Given the description of an element on the screen output the (x, y) to click on. 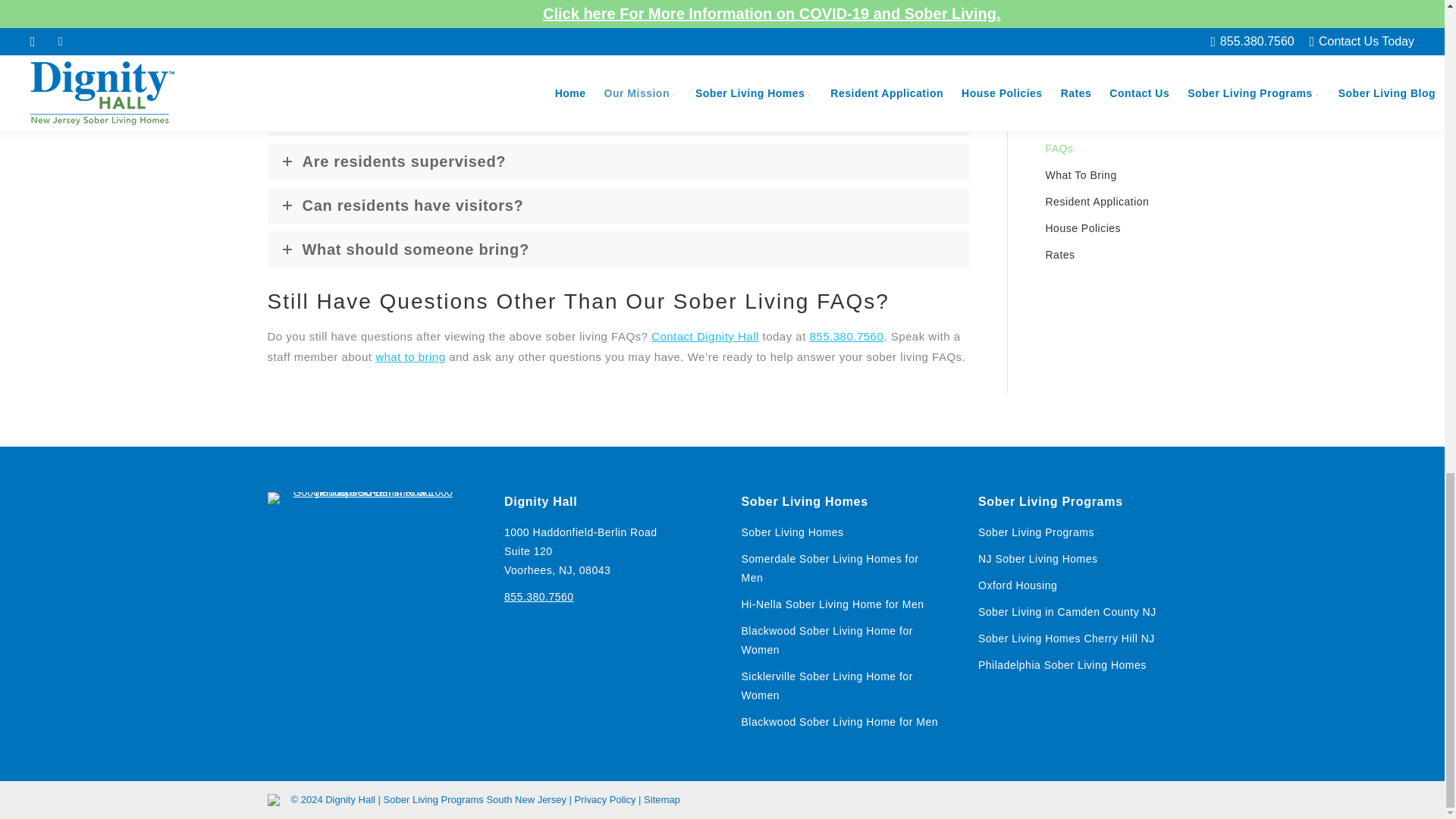
Contact Us (1110, 8)
